Given the description of an element on the screen output the (x, y) to click on. 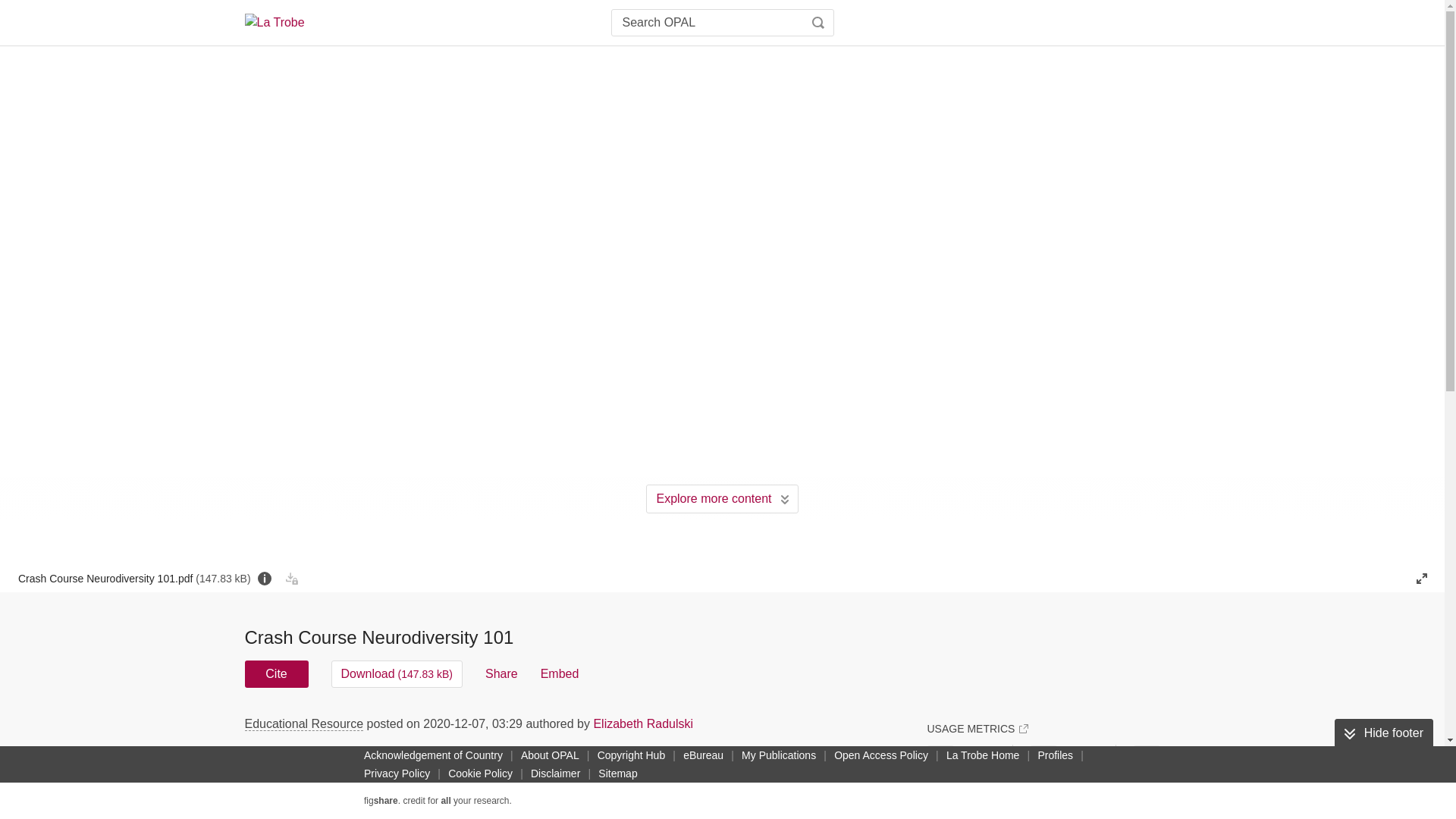
Cookie Policy (480, 773)
Embed (559, 673)
eBureau (703, 755)
Explore more content (721, 498)
Privacy Policy (396, 773)
My Publications (778, 755)
Acknowledgement of Country (432, 755)
Cite (275, 673)
Open Access Policy (881, 755)
Crash Course Neurodiversity 101.pdf (133, 578)
Profiles (1054, 755)
Share (501, 673)
Elizabeth Radulski (642, 723)
About OPAL (549, 755)
Hide footer (1383, 733)
